Given the description of an element on the screen output the (x, y) to click on. 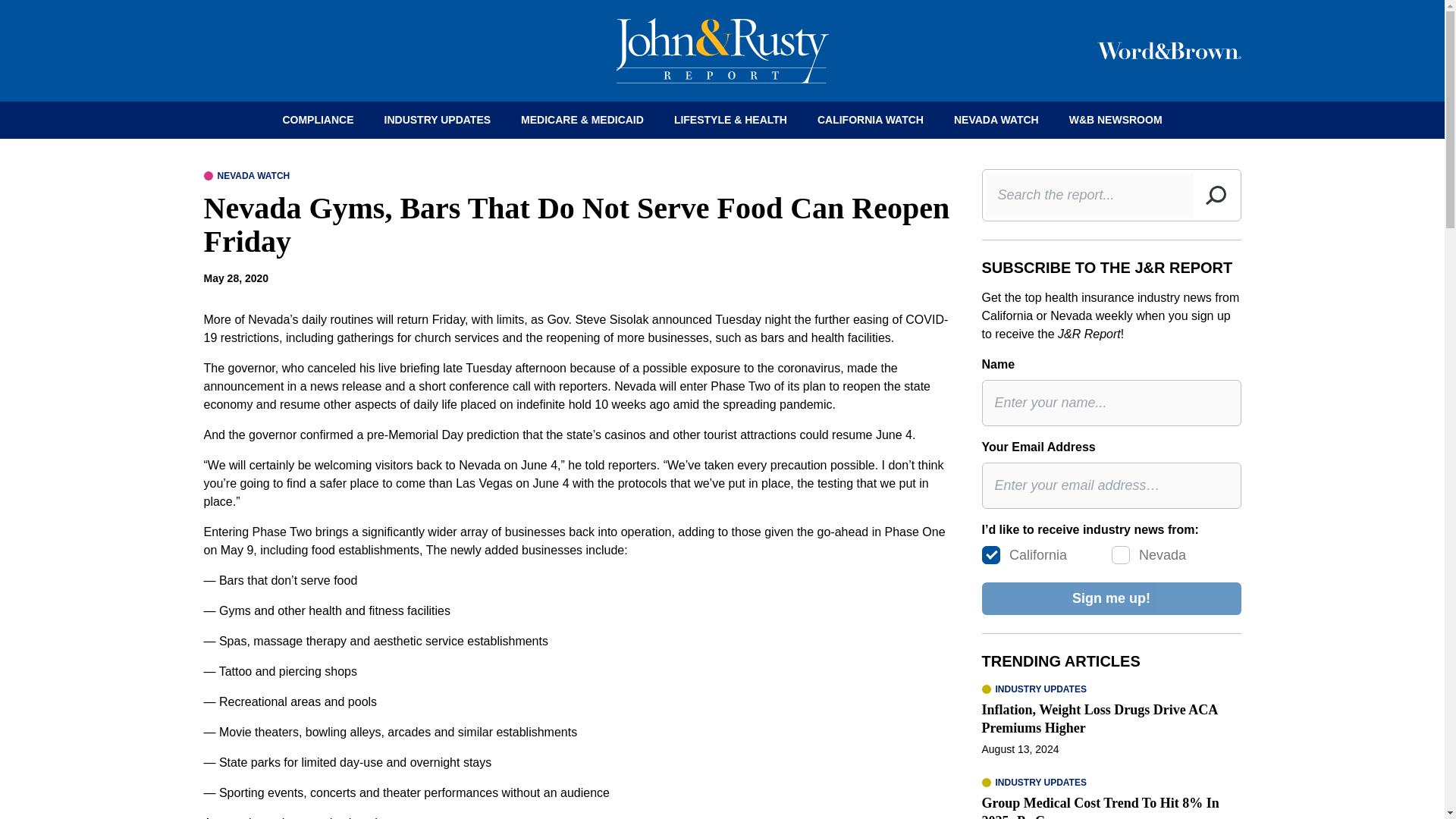
INDUSTRY UPDATES (1033, 689)
Sign me up! (1110, 598)
Inflation, Weight Loss Drugs Drive ACA Premiums Higher (1099, 718)
Sign me up! (1110, 598)
California (989, 555)
INDUSTRY UPDATES (1033, 782)
COMPLIANCE (317, 119)
NEVADA WATCH (996, 119)
NEVADA WATCH (246, 175)
INDUSTRY UPDATES (437, 119)
